Given the description of an element on the screen output the (x, y) to click on. 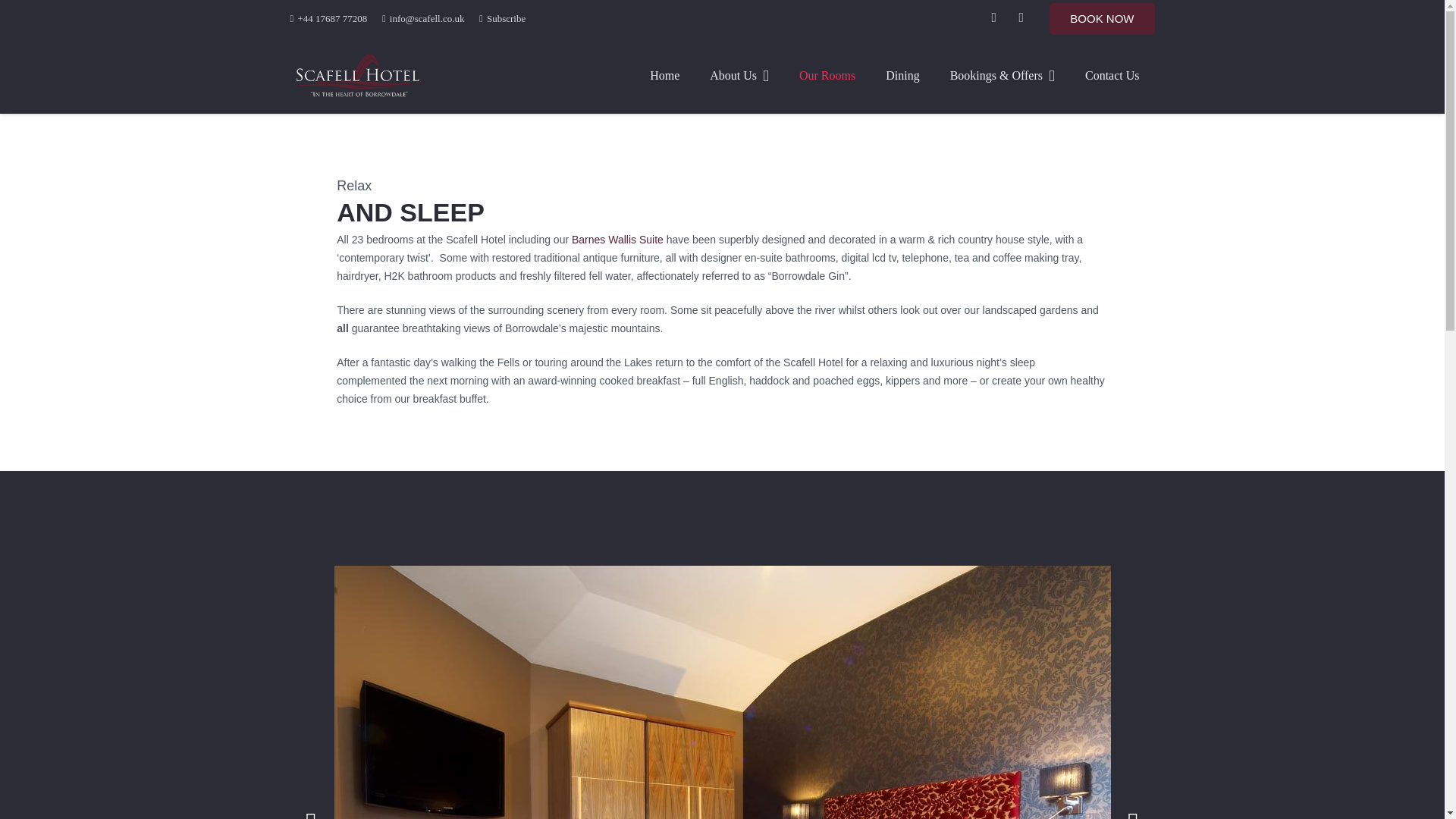
Contact Us (1112, 75)
Home (664, 75)
Our Rooms (827, 75)
Twitter (1021, 19)
About Us (739, 75)
Barnes Wallis Suite (617, 239)
BOOK NOW (1101, 19)
Dining (902, 75)
Facebook (993, 19)
